Given the description of an element on the screen output the (x, y) to click on. 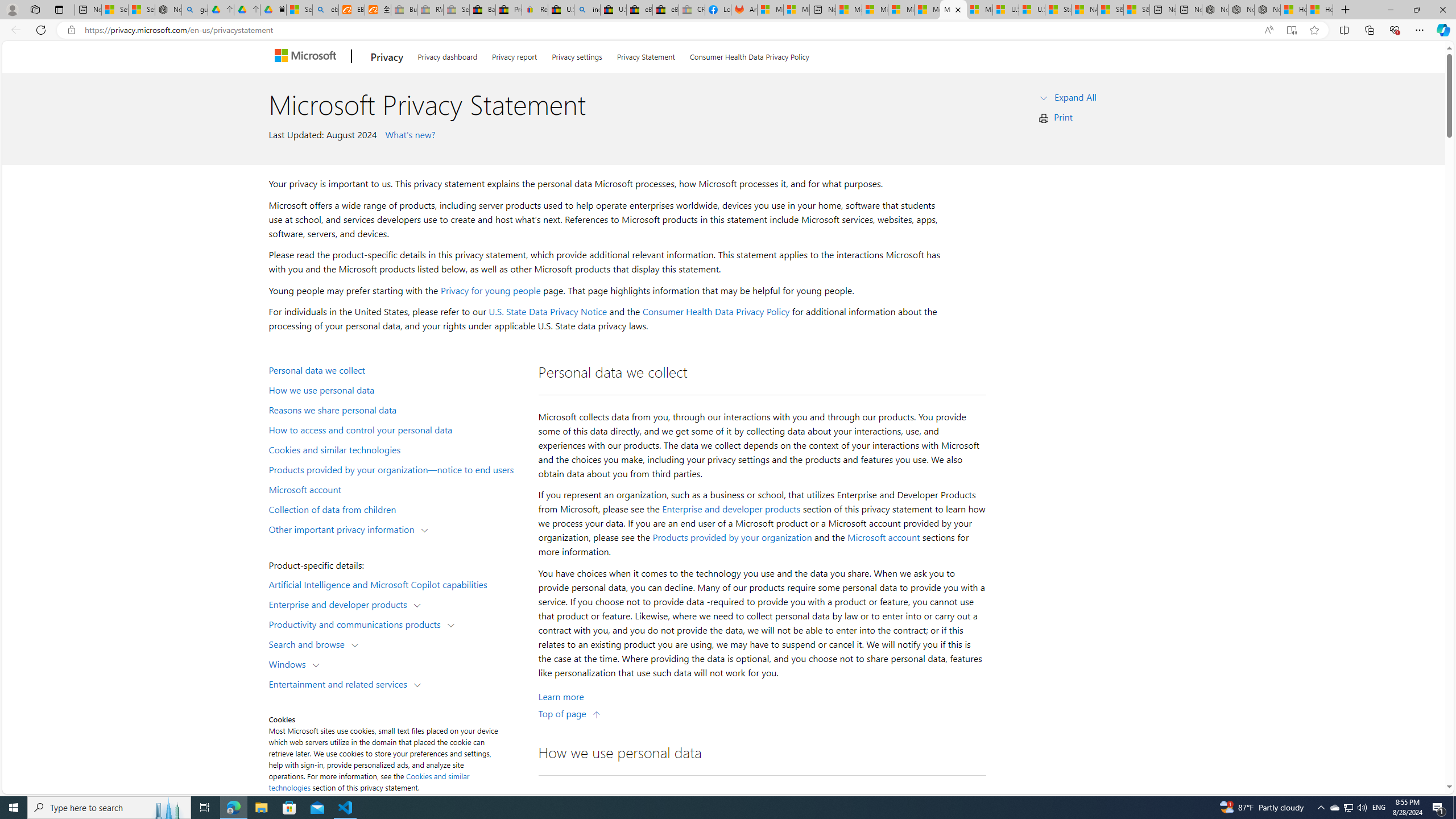
Products provided by your organization (732, 537)
Privacy report (514, 54)
Collections (1369, 29)
How to Use a Monitor With Your Closed Laptop (1319, 9)
How to access and control your personal data (395, 428)
Privacy for young people (489, 290)
Press Room - eBay Inc. (508, 9)
Register: Create a personal eBay account (534, 9)
Print (1063, 116)
Address and search bar (669, 29)
Microsoft account | Home (900, 9)
U.S. State Privacy Disclosures - eBay Inc. (613, 9)
View site information (70, 29)
